Given the description of an element on the screen output the (x, y) to click on. 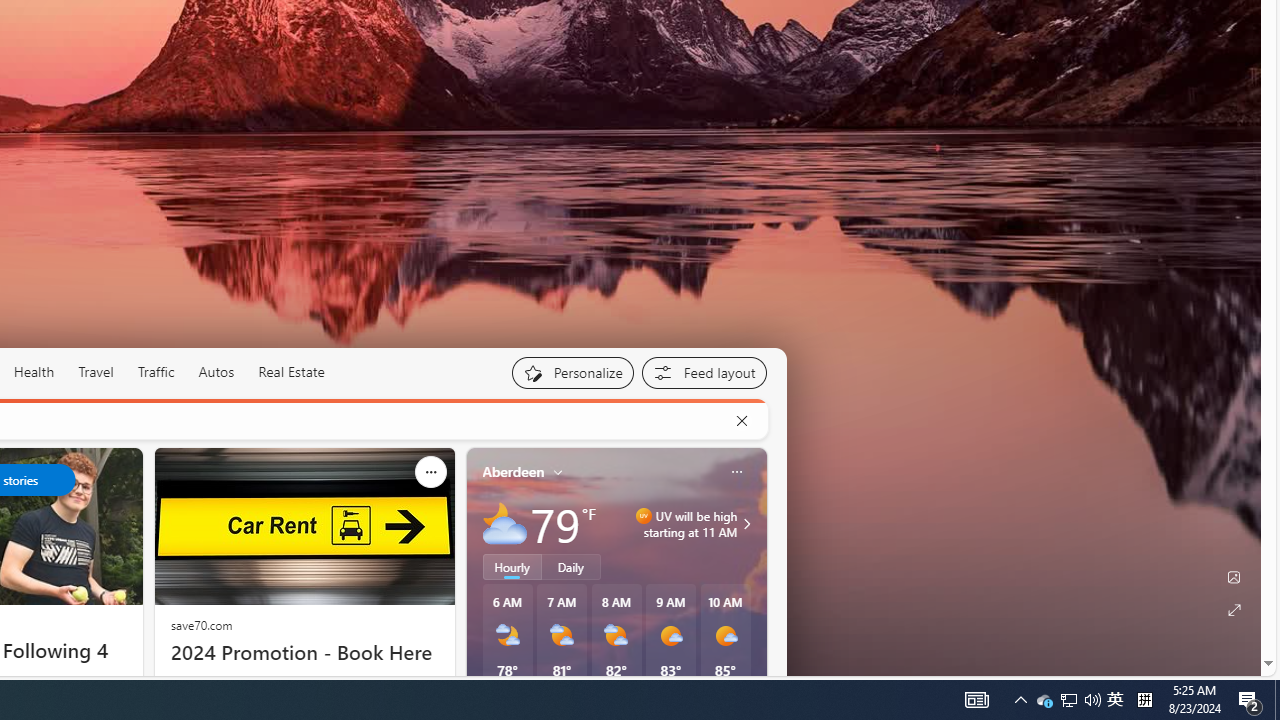
Mostly cloudy (504, 523)
Hourly (511, 566)
Health (34, 371)
See more (429, 471)
Health (33, 372)
Real Estate (291, 371)
Travel (95, 372)
Cancel (741, 421)
Class: icon-img (736, 471)
Edit Background (1233, 577)
2024 Promotion - Book Here (304, 652)
Travel (95, 371)
